Given the description of an element on the screen output the (x, y) to click on. 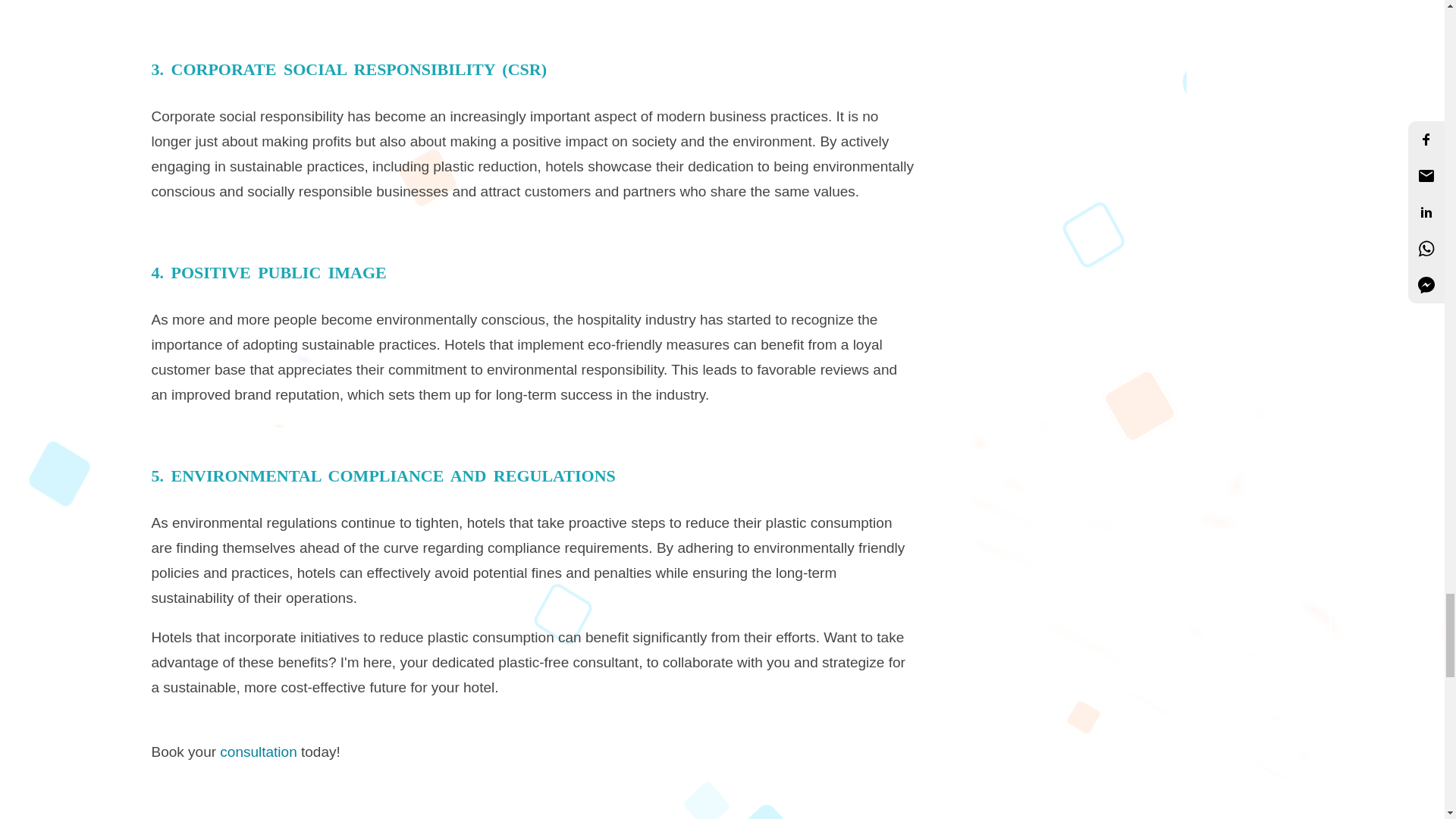
consultation (260, 751)
